Given the description of an element on the screen output the (x, y) to click on. 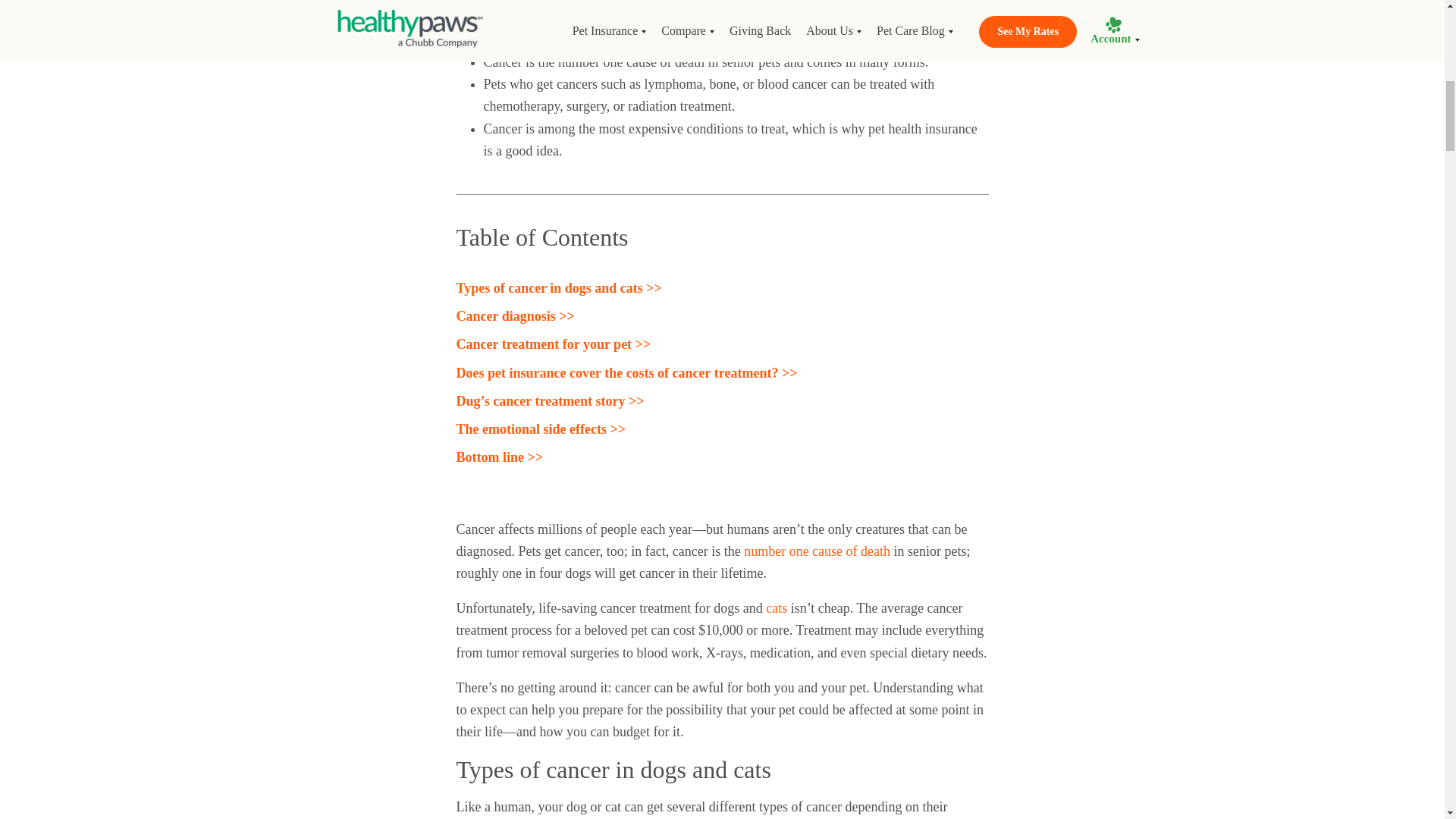
Types of cancer in dogs and cats (559, 287)
Does pet insurance cover the costs of cancer treatment? (627, 372)
Bottom line (500, 457)
Cancer diagnosis (516, 315)
Cancer treatment for your pet (553, 344)
The emotional side effects (541, 428)
